Given the description of an element on the screen output the (x, y) to click on. 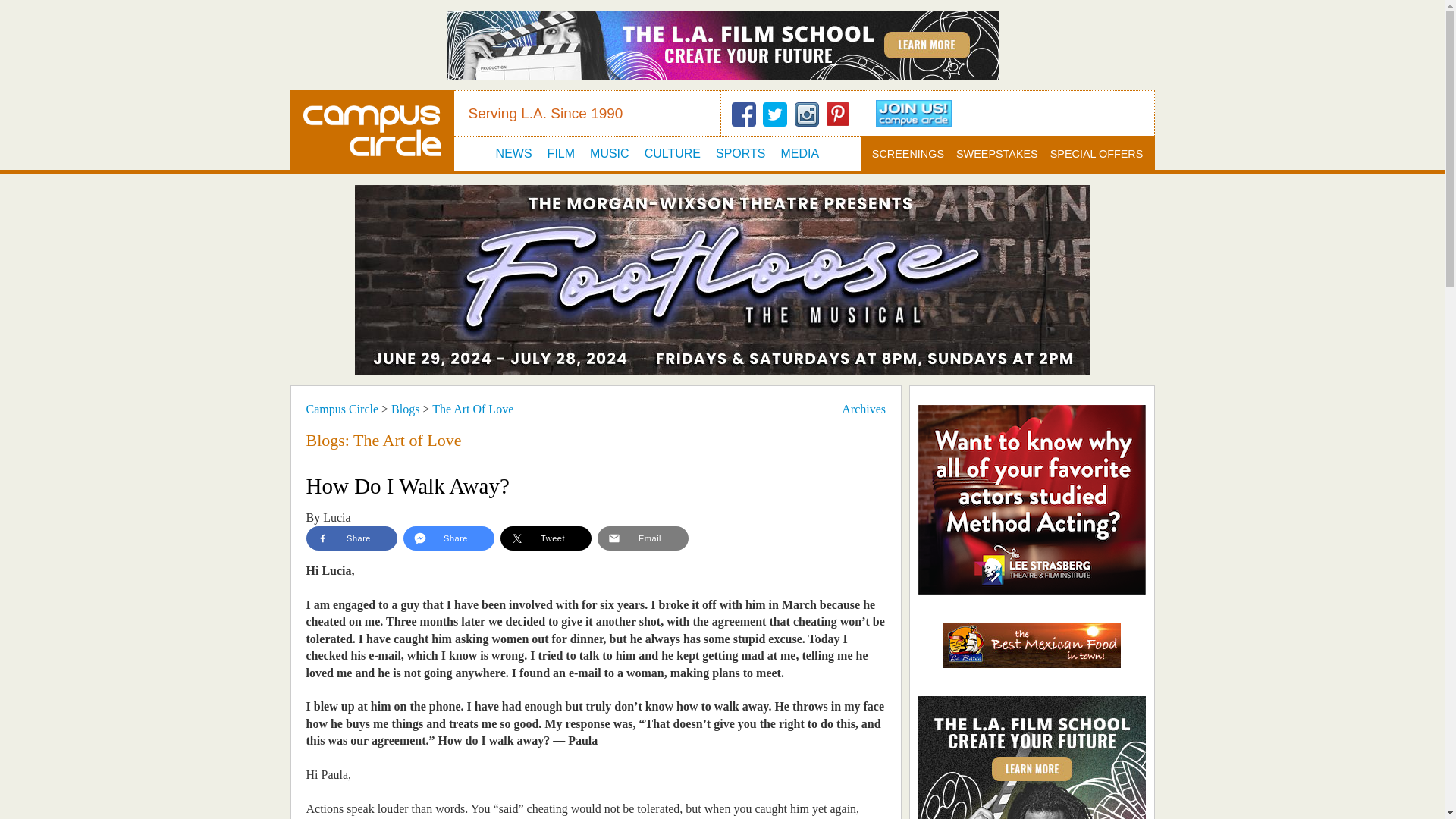
CULTURE (672, 153)
NEWS (514, 153)
MEDIA (799, 153)
FILM (561, 153)
MUSIC (608, 153)
SPORTS (740, 153)
